Given the description of an element on the screen output the (x, y) to click on. 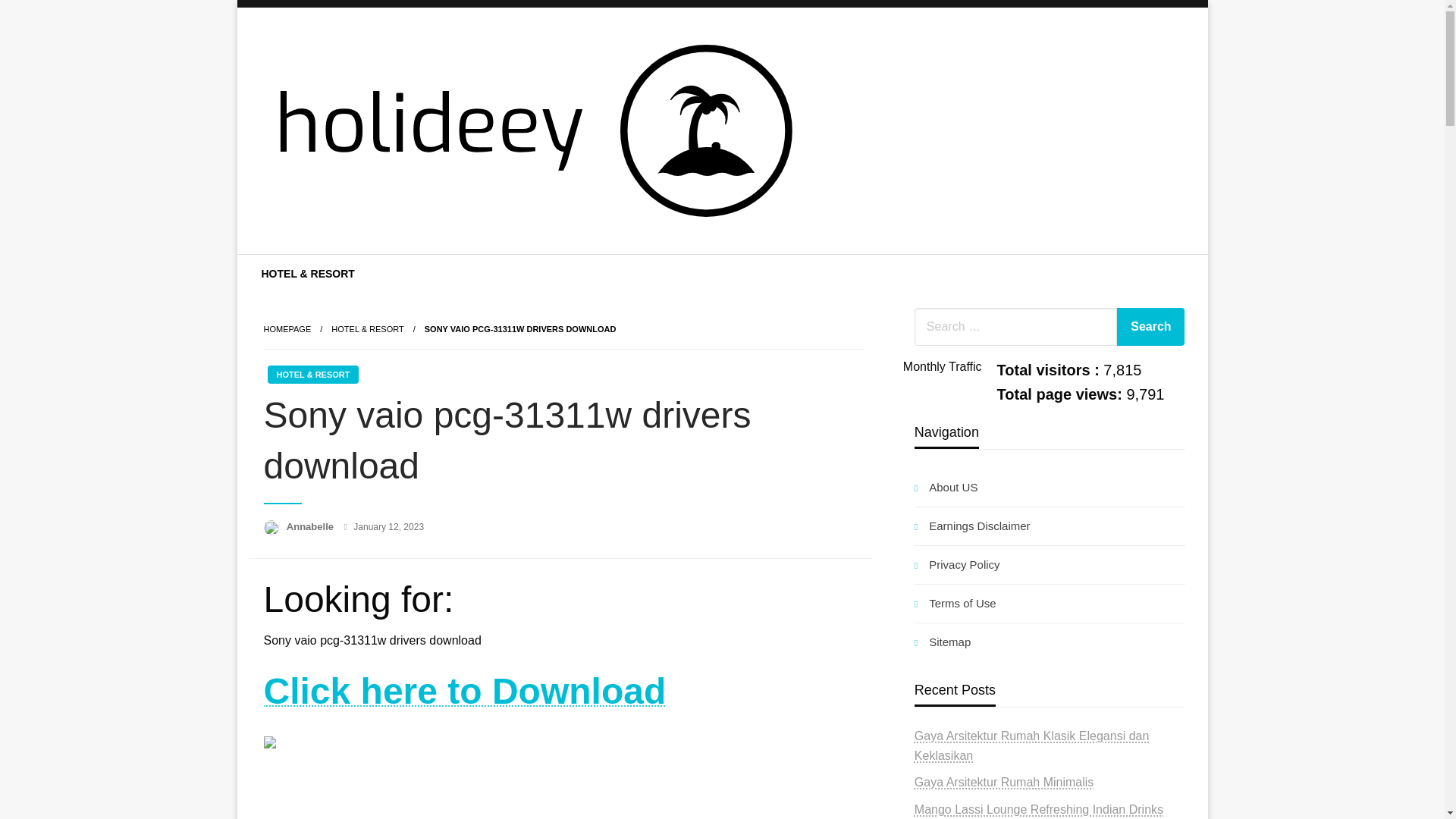
Annabelle (311, 526)
Annabelle (311, 526)
Search (1150, 326)
Search (1150, 326)
January 12, 2023 (388, 526)
Click here to Download (464, 698)
Holideey (322, 265)
Homepage (287, 328)
Sony vaio pcg-31311w drivers download (520, 328)
HOMEPAGE (287, 328)
